Given the description of an element on the screen output the (x, y) to click on. 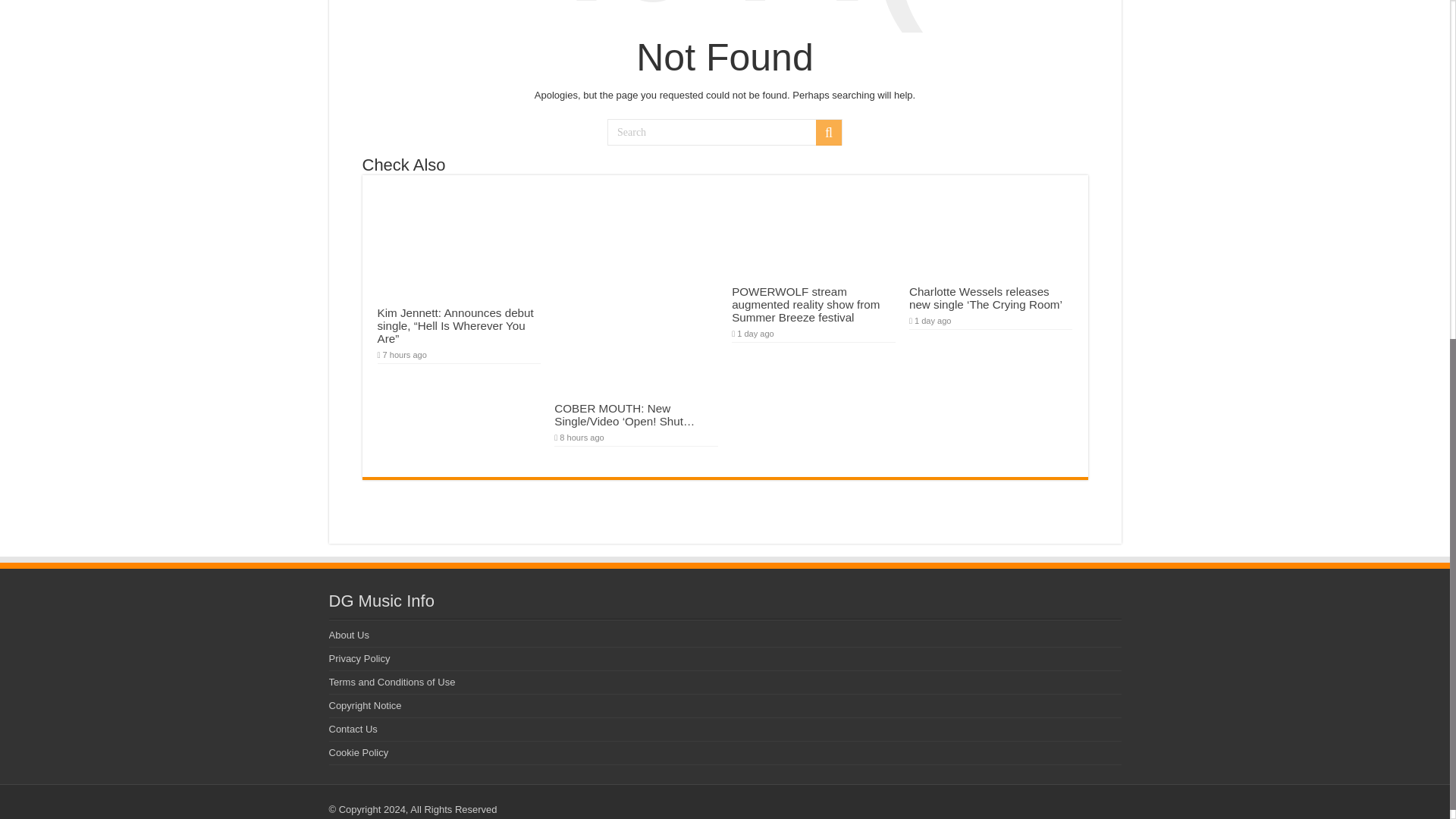
Contact Us (353, 728)
Search (725, 131)
Search (828, 132)
About Us (349, 634)
Cookie Policy (358, 752)
Privacy Policy (359, 658)
Copyright Notice (365, 705)
Terms and Conditions of Use (392, 681)
